Given the description of an element on the screen output the (x, y) to click on. 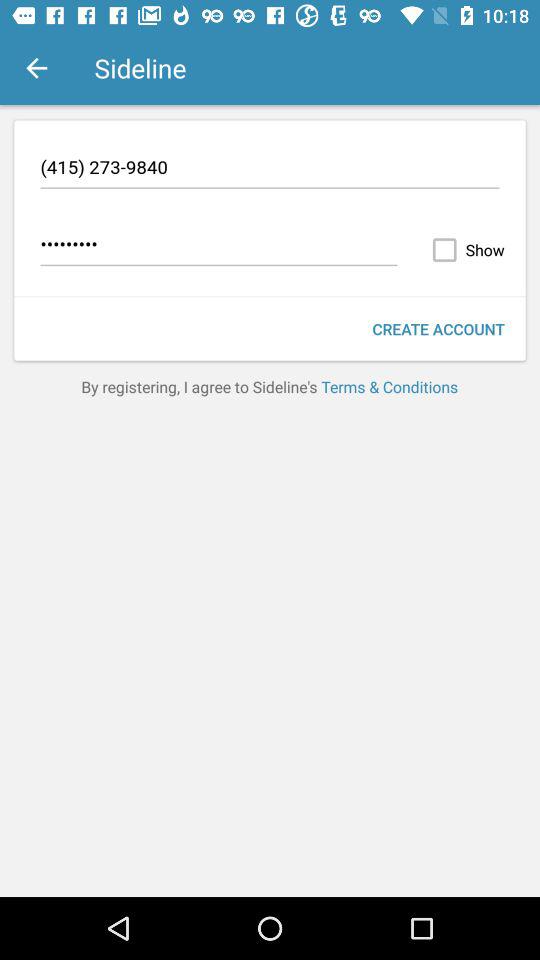
click icon to the left of the sideline item (36, 68)
